Given the description of an element on the screen output the (x, y) to click on. 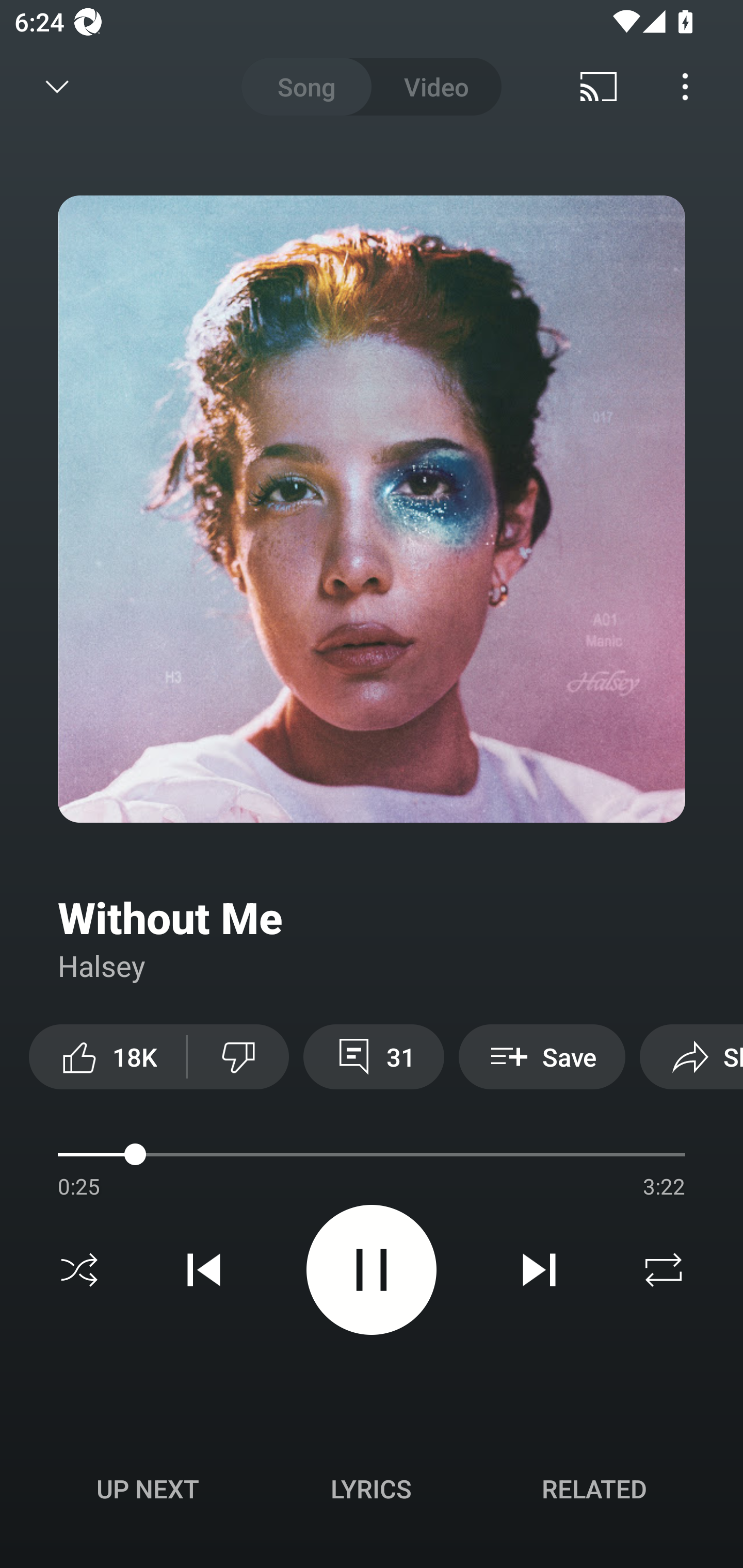
Minimize (57, 86)
Cast. Disconnected (598, 86)
Menu (684, 86)
18K like this video along with 18,871 other people (106, 1056)
Dislike (238, 1056)
31 View 31 comments (373, 1056)
Save Save to playlist (541, 1056)
Share (691, 1056)
Pause video (371, 1269)
Shuffle off (79, 1269)
Previous track (203, 1269)
Next track (538, 1269)
Repeat off (663, 1269)
Up next UP NEXT Lyrics LYRICS Related RELATED (371, 1491)
Lyrics LYRICS (370, 1488)
Related RELATED (594, 1488)
